Given the description of an element on the screen output the (x, y) to click on. 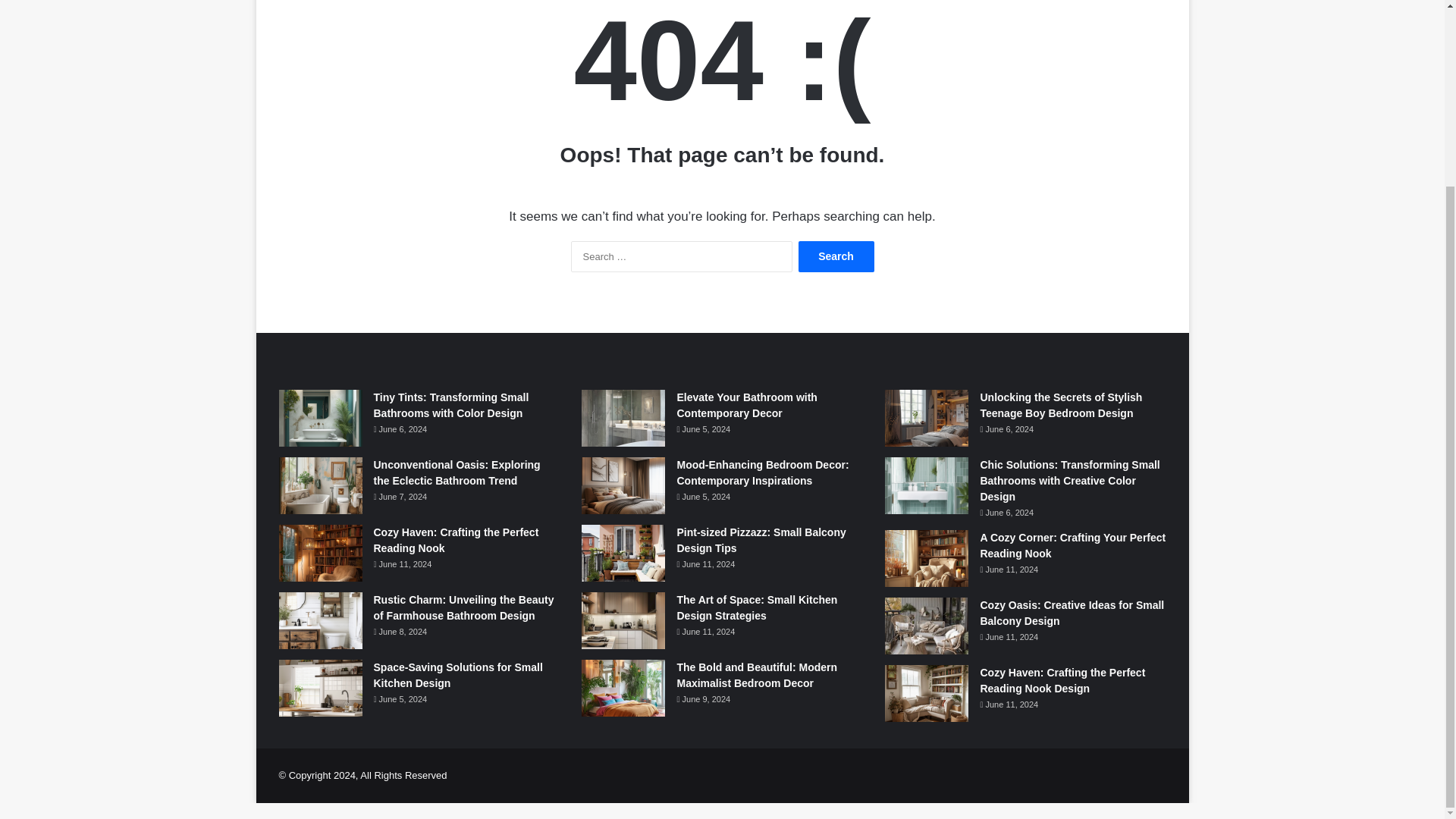
Elevate Your Bathroom with Contemporary Decor (746, 405)
Search (835, 255)
Search (835, 255)
Space-Saving Solutions for Small Kitchen Design (456, 674)
Search (835, 255)
Tiny Tints: Transforming Small Bathrooms with Color Design (450, 405)
Unconventional Oasis: Exploring the Eclectic Bathroom Trend (456, 472)
Cozy Haven: Crafting the Perfect Reading Nook (455, 540)
Unlocking the Secrets of Stylish Teenage Boy Bedroom Design (1060, 405)
The Bold and Beautiful: Modern Maximalist Bedroom Decor (757, 674)
The Art of Space: Small Kitchen Design Strategies (757, 607)
Mood-Enhancing Bedroom Decor: Contemporary Inspirations (762, 472)
